Given the description of an element on the screen output the (x, y) to click on. 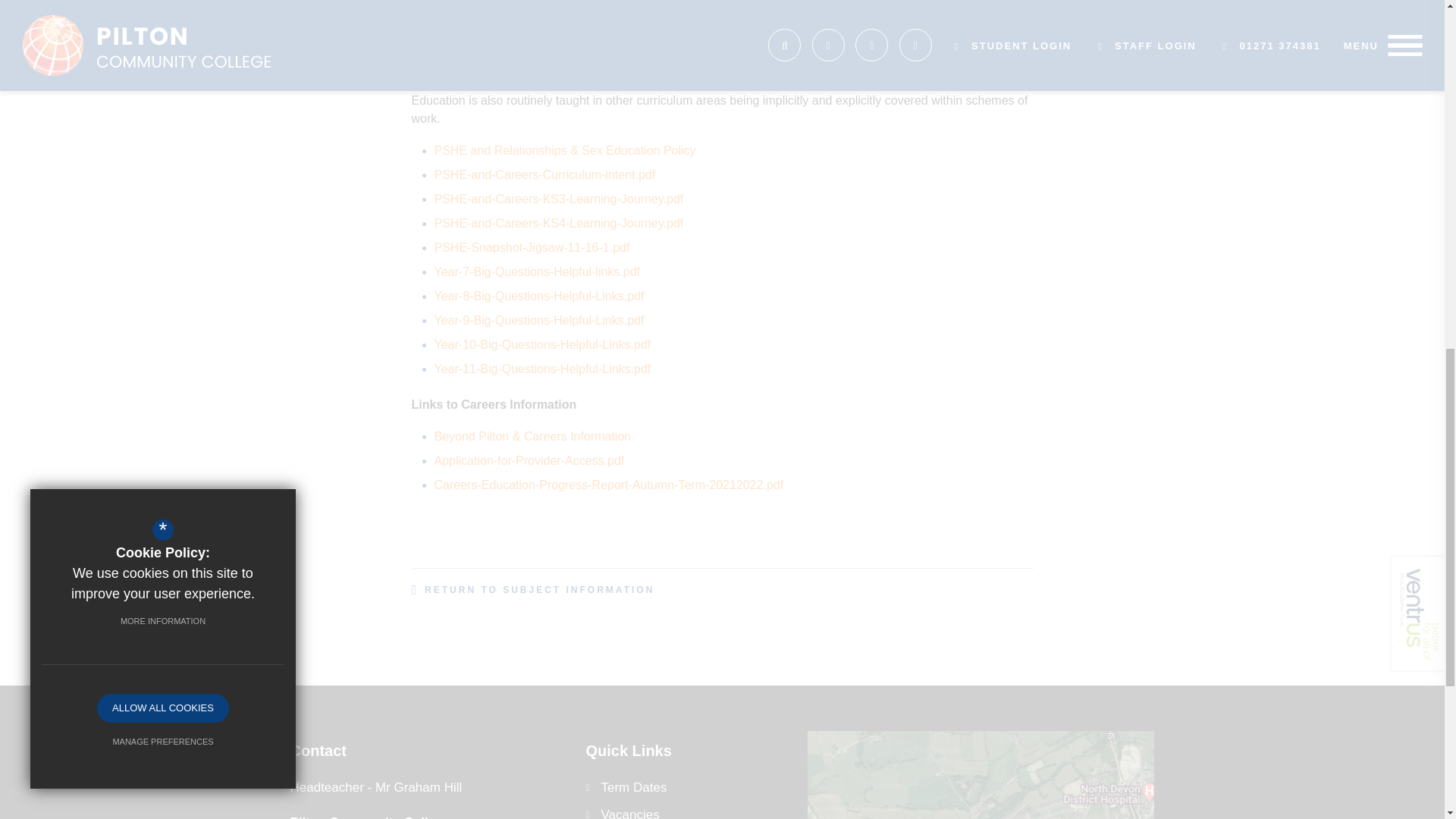
Return to Subject Information (531, 590)
